Given the description of an element on the screen output the (x, y) to click on. 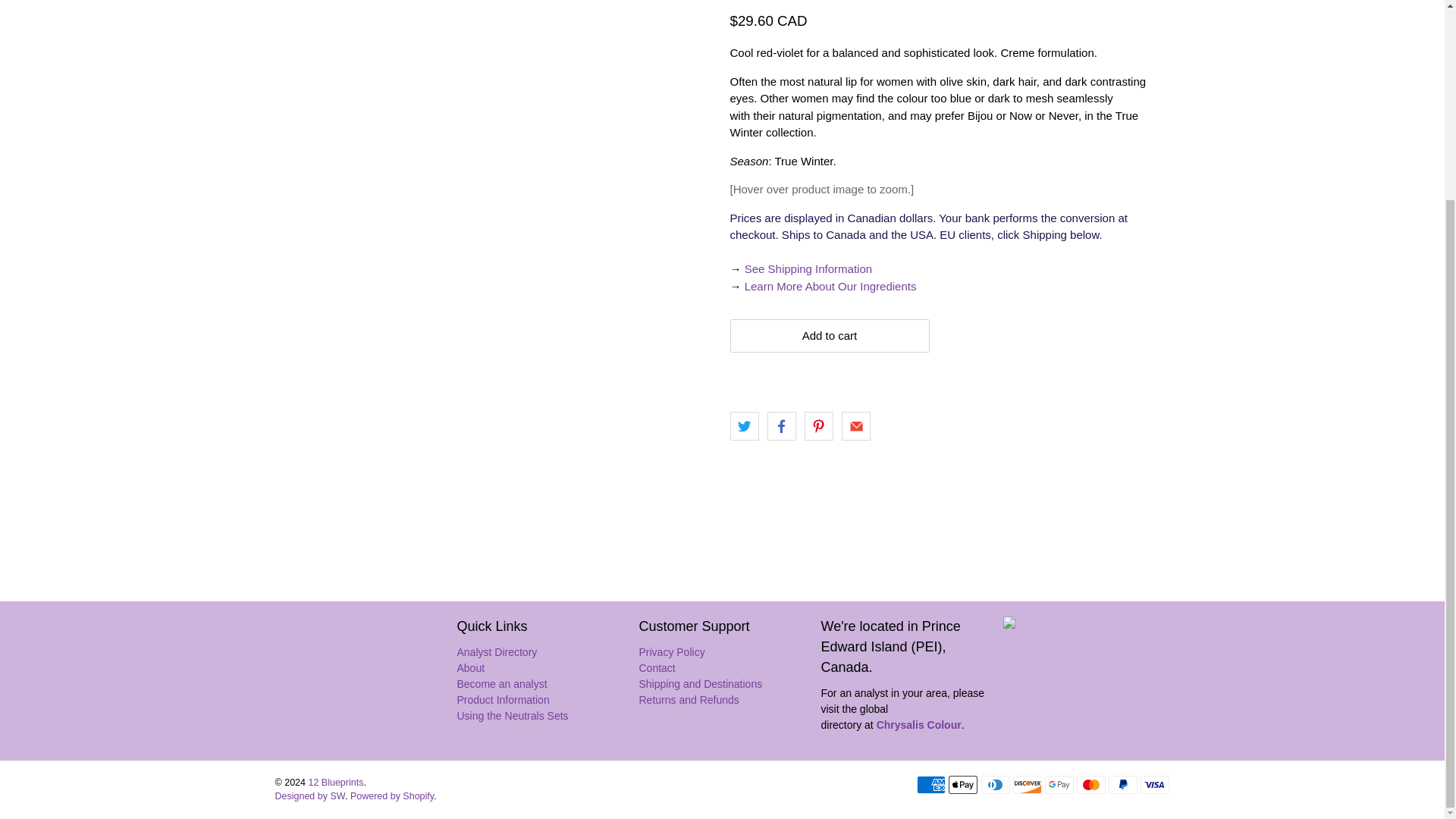
Ingredients (830, 286)
Google Pay (1059, 784)
Visa (1154, 784)
Discover (1027, 784)
Share this on Pinterest (818, 425)
12 Blueprints (341, 680)
Mastercard (1091, 784)
Share this on Twitter (743, 425)
Email this to a friend (855, 425)
Apple Pay (962, 784)
